Given the description of an element on the screen output the (x, y) to click on. 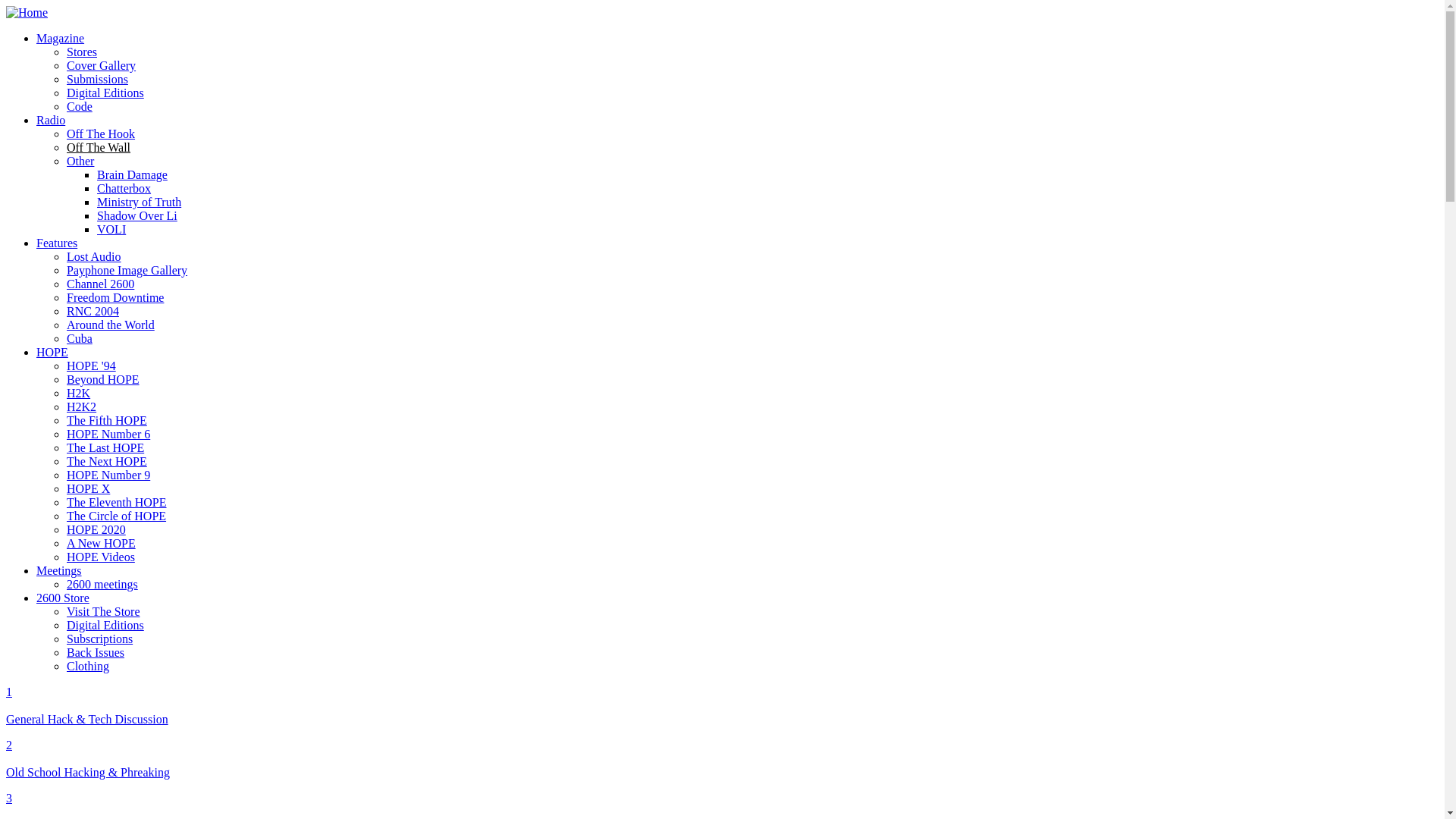
Off The Wall Element type: text (98, 147)
The Circle of HOPE Element type: text (116, 515)
HOPE 2020 Element type: text (95, 529)
The Fifth HOPE Element type: text (106, 420)
Home Element type: hover (26, 12)
HOPE '94 Element type: text (91, 365)
2600 meetings Element type: text (102, 583)
Lost Audio Element type: text (93, 256)
Chatterbox Element type: text (123, 188)
Meetings Element type: text (58, 570)
Clothing Element type: text (87, 665)
Off The Hook Element type: text (100, 133)
Channel 2600 Element type: text (100, 283)
HOPE X Element type: text (87, 488)
Magazine Element type: text (60, 37)
A New HOPE Element type: text (100, 542)
Payphone Image Gallery Element type: text (126, 269)
Digital Editions Element type: text (105, 92)
Cover Gallery Element type: text (100, 65)
HOPE Element type: text (52, 351)
H2K2 Element type: text (81, 406)
Digital Editions Element type: text (105, 624)
The Eleventh HOPE Element type: text (116, 501)
Visit The Store Element type: text (103, 611)
2

Old School Hacking & Phreaking Element type: text (722, 758)
Other Element type: text (80, 160)
Around the World Element type: text (110, 324)
Code Element type: text (79, 106)
Beyond HOPE Element type: text (102, 379)
Stores Element type: text (81, 51)
HOPE Number 6 Element type: text (108, 433)
HOPE Number 9 Element type: text (108, 474)
Ministry of Truth Element type: text (139, 201)
RNC 2004 Element type: text (92, 310)
Radio Element type: text (50, 119)
Brain Damage Element type: text (132, 174)
Skip to main content Element type: text (56, 6)
Submissions Element type: text (97, 78)
The Next HOPE Element type: text (106, 461)
The Last HOPE Element type: text (105, 447)
Shadow Over Li Element type: text (137, 215)
Freedom Downtime Element type: text (114, 297)
1

General Hack & Tech Discussion Element type: text (722, 705)
HOPE Videos Element type: text (100, 556)
Features Element type: text (56, 242)
Back Issues Element type: text (95, 652)
H2K Element type: text (78, 392)
2600 Store Element type: text (62, 597)
Cuba Element type: text (79, 338)
Subscriptions Element type: text (99, 638)
VOLI Element type: text (111, 228)
